Given the description of an element on the screen output the (x, y) to click on. 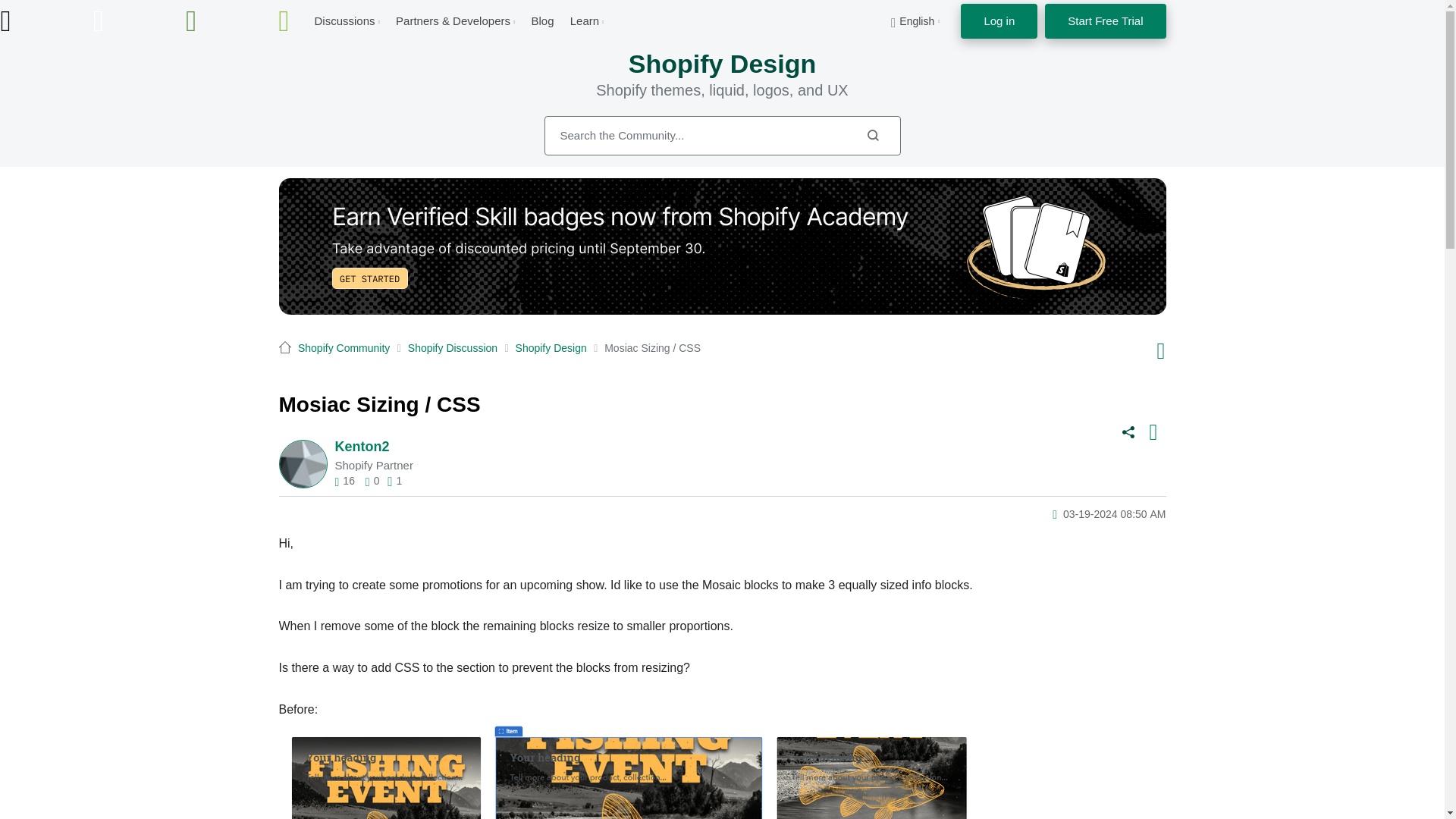
Search (872, 135)
Search (722, 135)
Discussions (344, 20)
Search (872, 135)
